Given the description of an element on the screen output the (x, y) to click on. 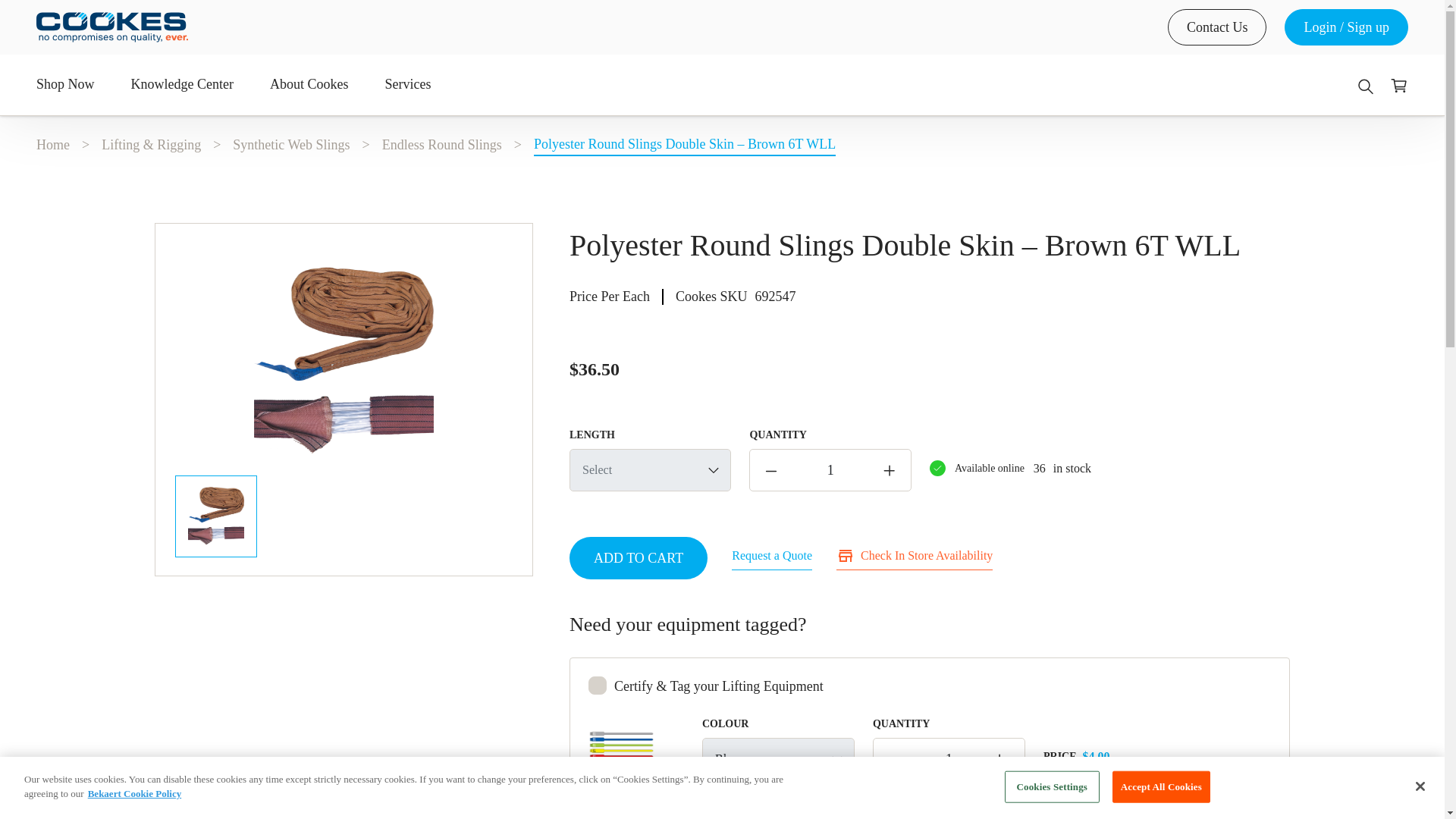
1 (949, 759)
Contact Us (1216, 27)
Blue (777, 758)
Shop Now (74, 84)
1 (830, 469)
